Given the description of an element on the screen output the (x, y) to click on. 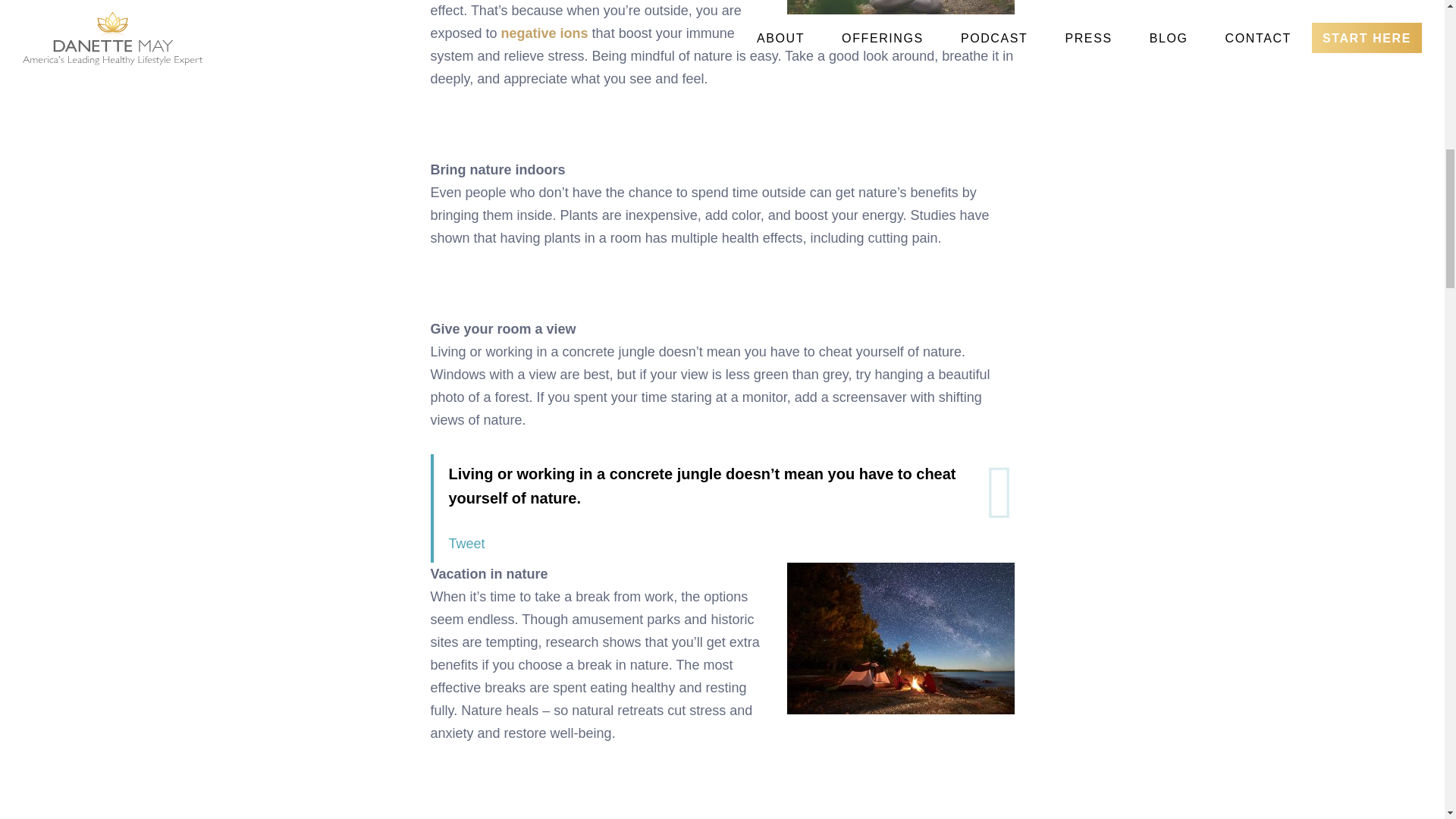
negative ions (544, 32)
Tweet (466, 543)
